Given the description of an element on the screen output the (x, y) to click on. 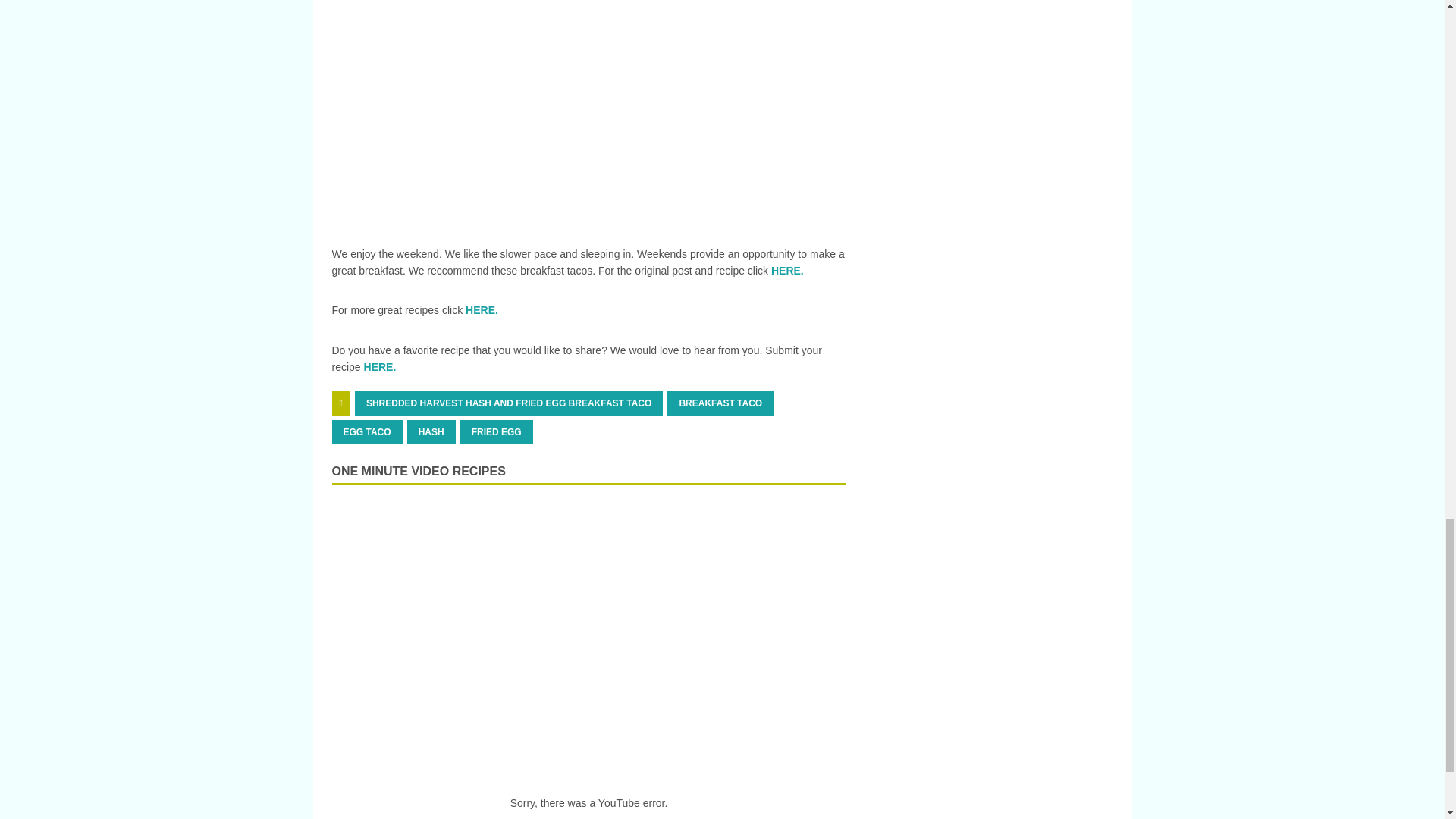
HERE. (481, 309)
EGG TACO (367, 432)
HASH (431, 432)
HERE. (380, 367)
FRIED EGG (496, 432)
BREAKFAST TACO (719, 403)
SHREDDED HARVEST HASH AND FRIED EGG BREAKFAST TACO (508, 403)
HERE. (787, 270)
